Given the description of an element on the screen output the (x, y) to click on. 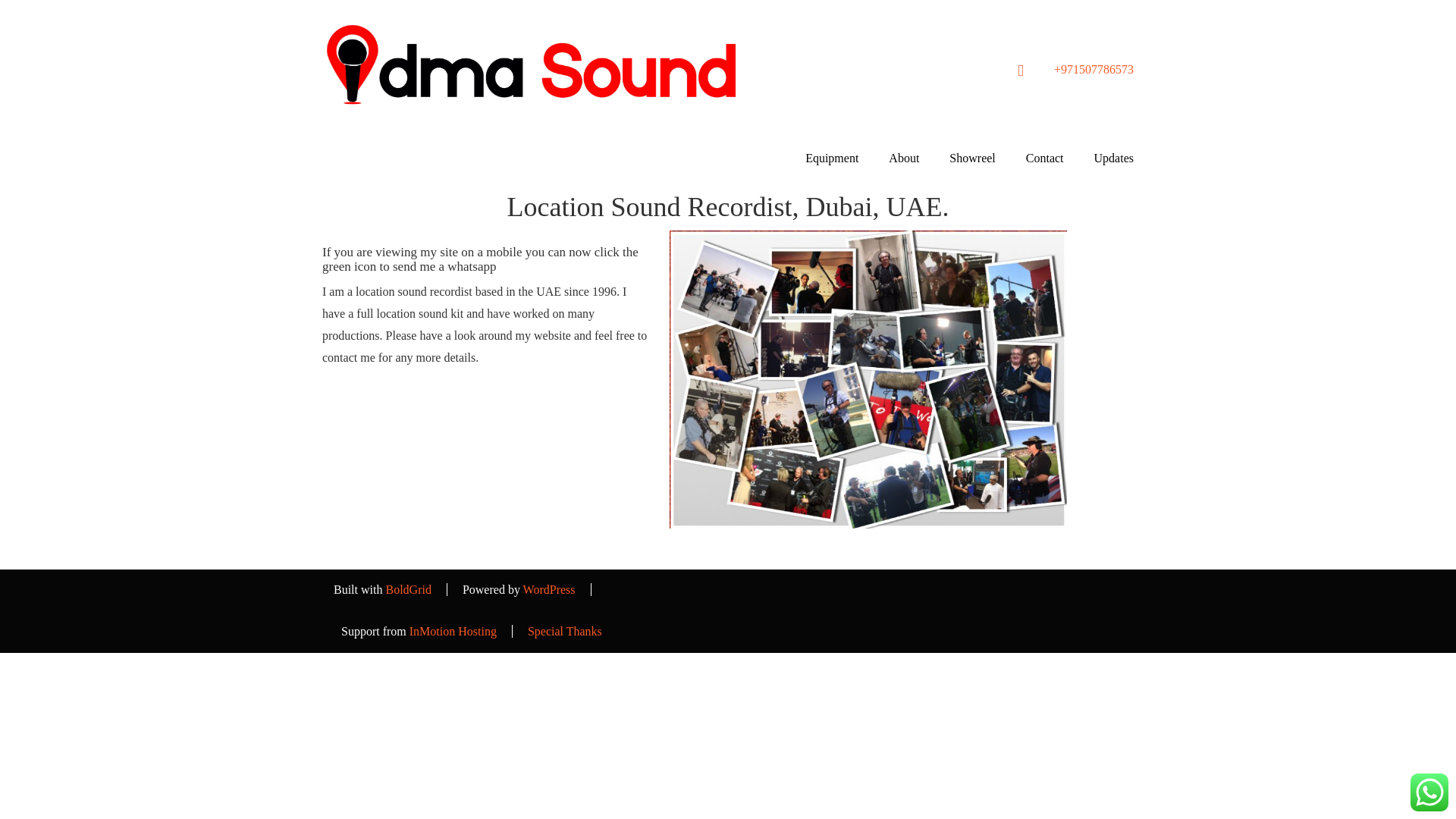
BoldGrid (407, 589)
Showreel (972, 158)
Special Thanks (564, 631)
Contact (1044, 158)
InMotion Hosting (452, 631)
About (903, 158)
Updates (1113, 158)
WordPress (548, 589)
